Given the description of an element on the screen output the (x, y) to click on. 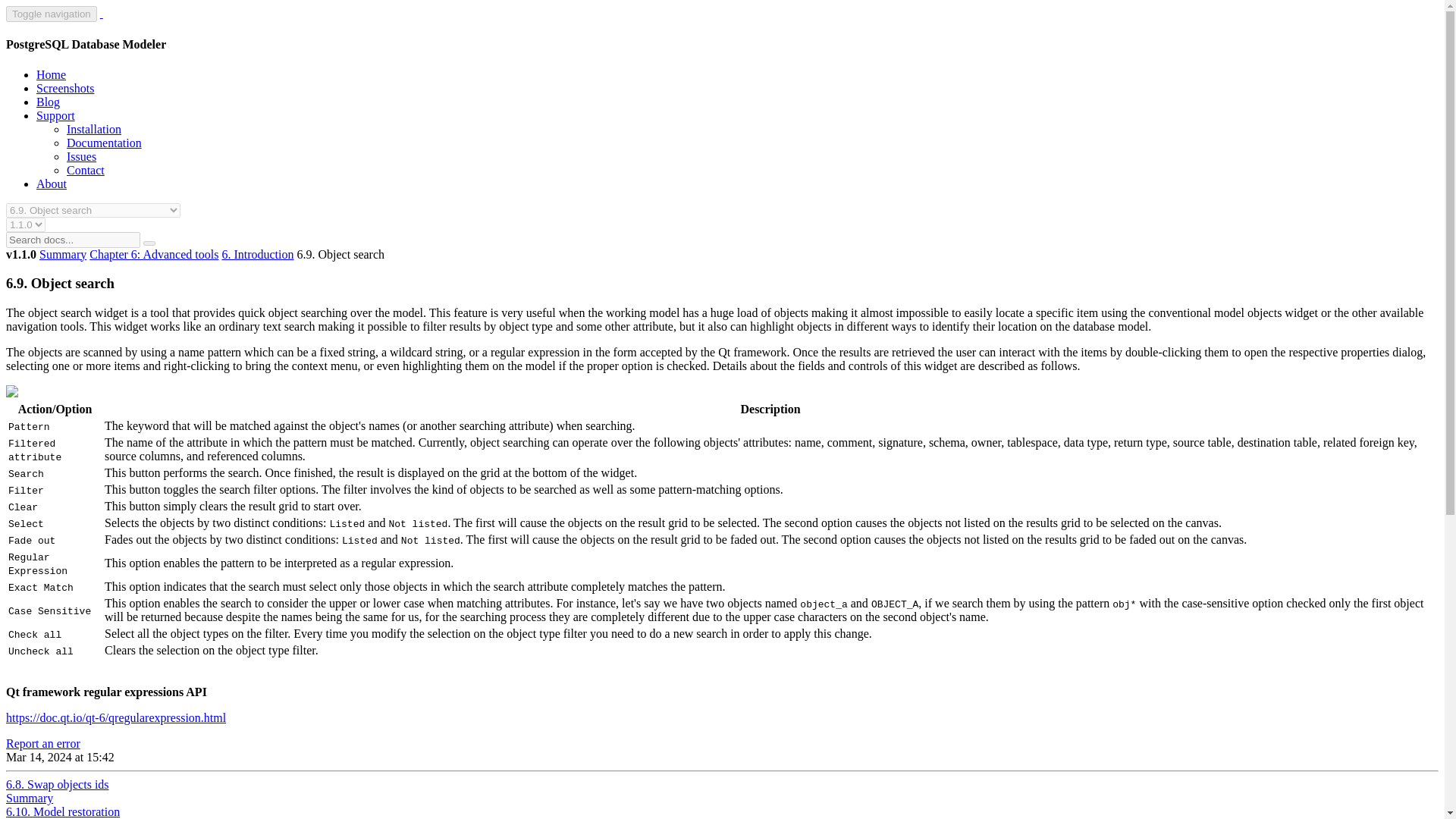
Report an error (42, 743)
6.10. Model restoration (62, 811)
Toggle navigation (51, 13)
Screenshots (65, 88)
Support (55, 115)
Summary (62, 254)
Issues (81, 155)
Blog (47, 101)
Installation (93, 128)
Chapter 6: Advanced tools (153, 254)
